Given the description of an element on the screen output the (x, y) to click on. 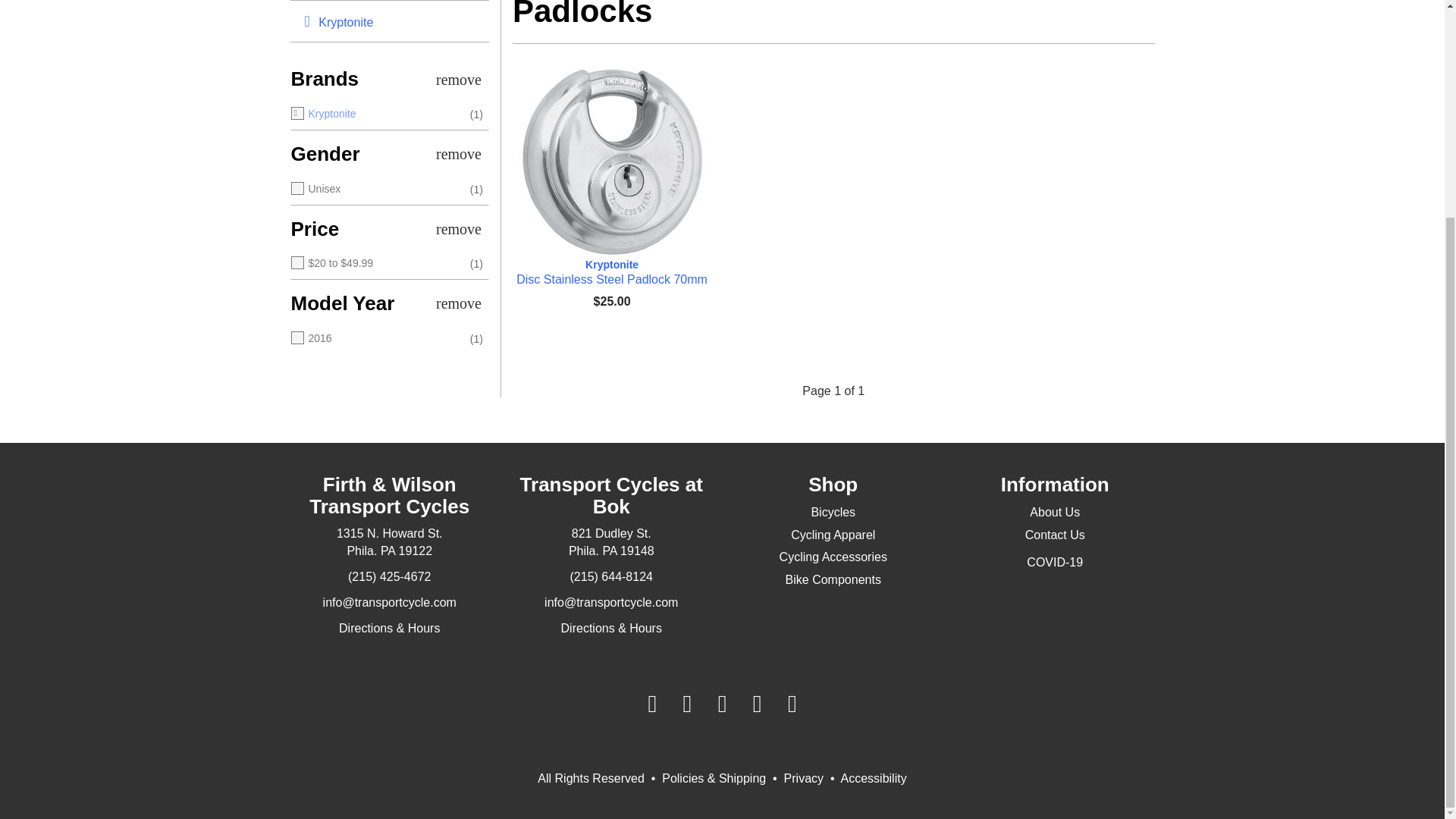
Kryptonite Disc Stainless Steel Padlock 70mm (611, 162)
Kryptonite Disc Stainless Steel Padlock 70mm (611, 272)
